Given the description of an element on the screen output the (x, y) to click on. 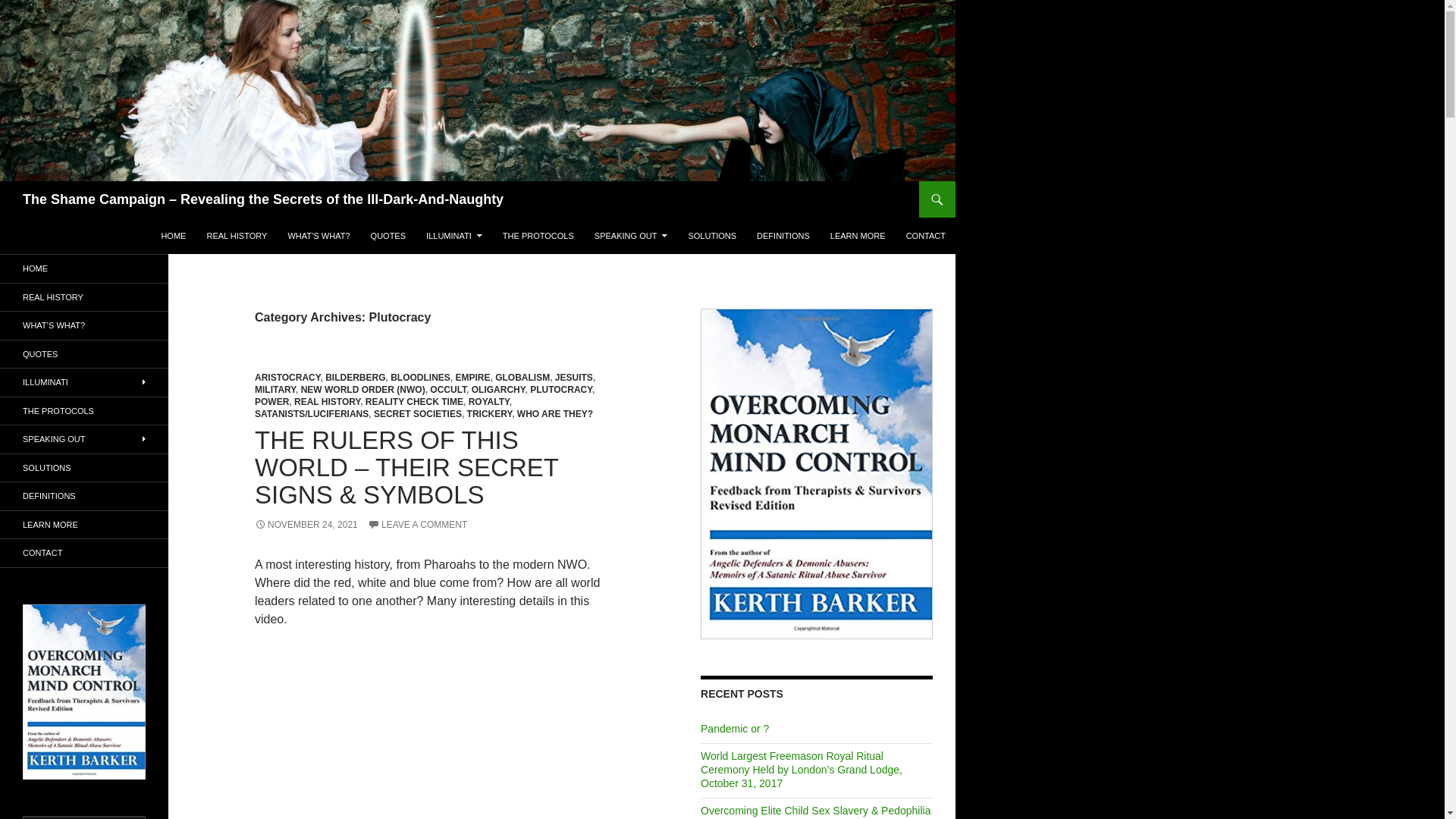
THE PROTOCOLS (538, 235)
ARISTOCRACY (287, 377)
Supporting materials: books, articles, videos, etc (84, 524)
Supporting materials: books, articles, videos, etc (858, 235)
QUOTES (387, 235)
The story in a nutshell (387, 235)
REAL HISTORY (236, 235)
The story in a nutshell (84, 353)
SOLUTIONS (711, 235)
HOME (173, 235)
ILLUMINATI (454, 235)
DEFINITIONS (783, 235)
CONTACT (925, 235)
